Given the description of an element on the screen output the (x, y) to click on. 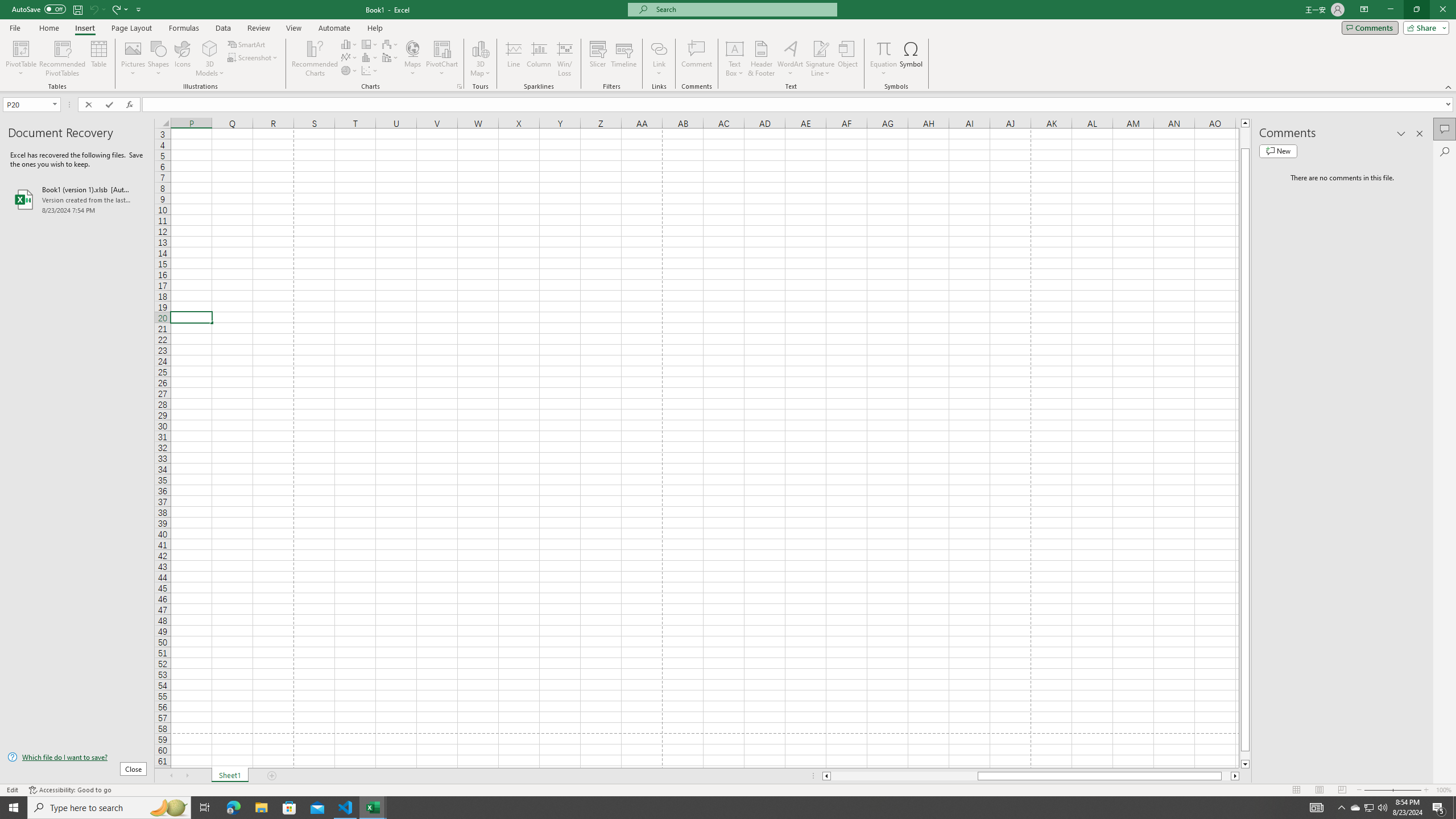
Timeline (623, 58)
New comment (1278, 151)
Insert Line or Area Chart (349, 56)
PivotTable (20, 58)
Page up (1245, 137)
PivotChart (442, 58)
Insert Statistic Chart (369, 56)
